Given the description of an element on the screen output the (x, y) to click on. 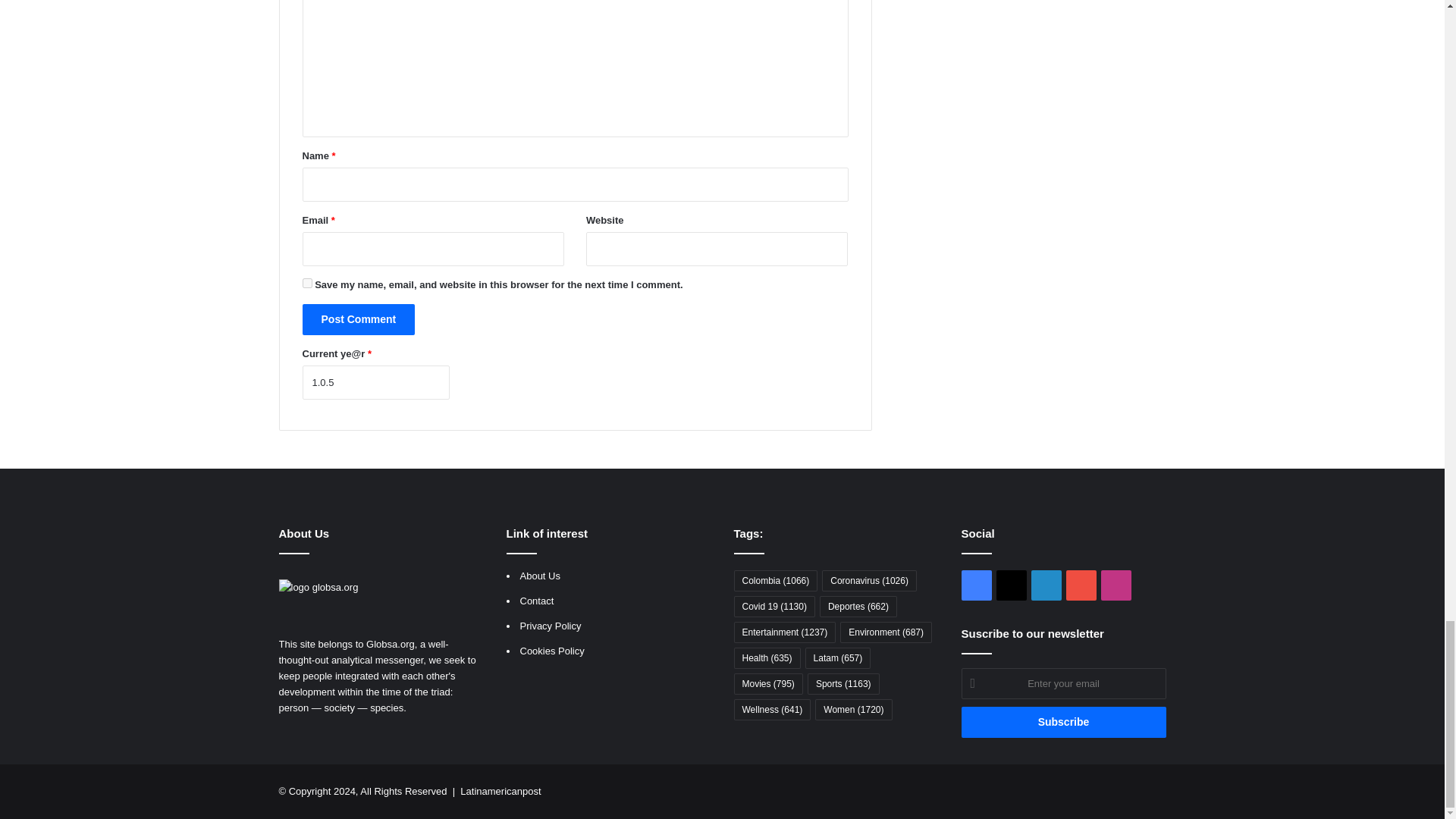
Post Comment (357, 318)
1.0.5 (374, 382)
yes (306, 283)
Subscribe (1063, 721)
